Given the description of an element on the screen output the (x, y) to click on. 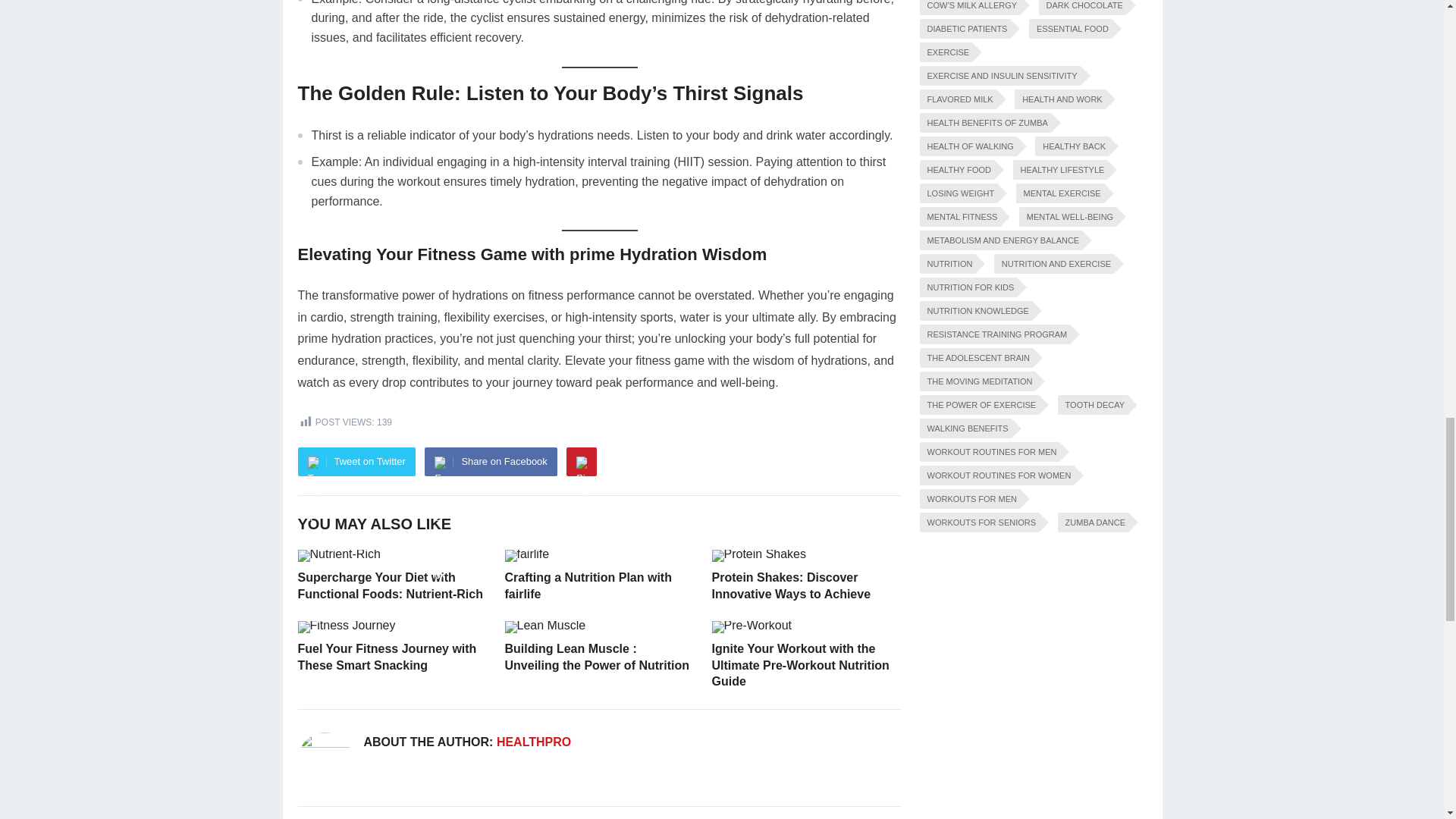
Crafting a Nutrition Plan with fairlife (588, 585)
Tweet on Twitter (355, 461)
Protein Shakes: Discover Innovative Ways to Achieve (790, 585)
Supercharge Your Diet with Functional Foods: Nutrient-Rich (389, 585)
Pinterest (581, 461)
Fuel Your Fitness Journey with These Smart Snacking (386, 656)
Share on Facebook (490, 461)
